Given the description of an element on the screen output the (x, y) to click on. 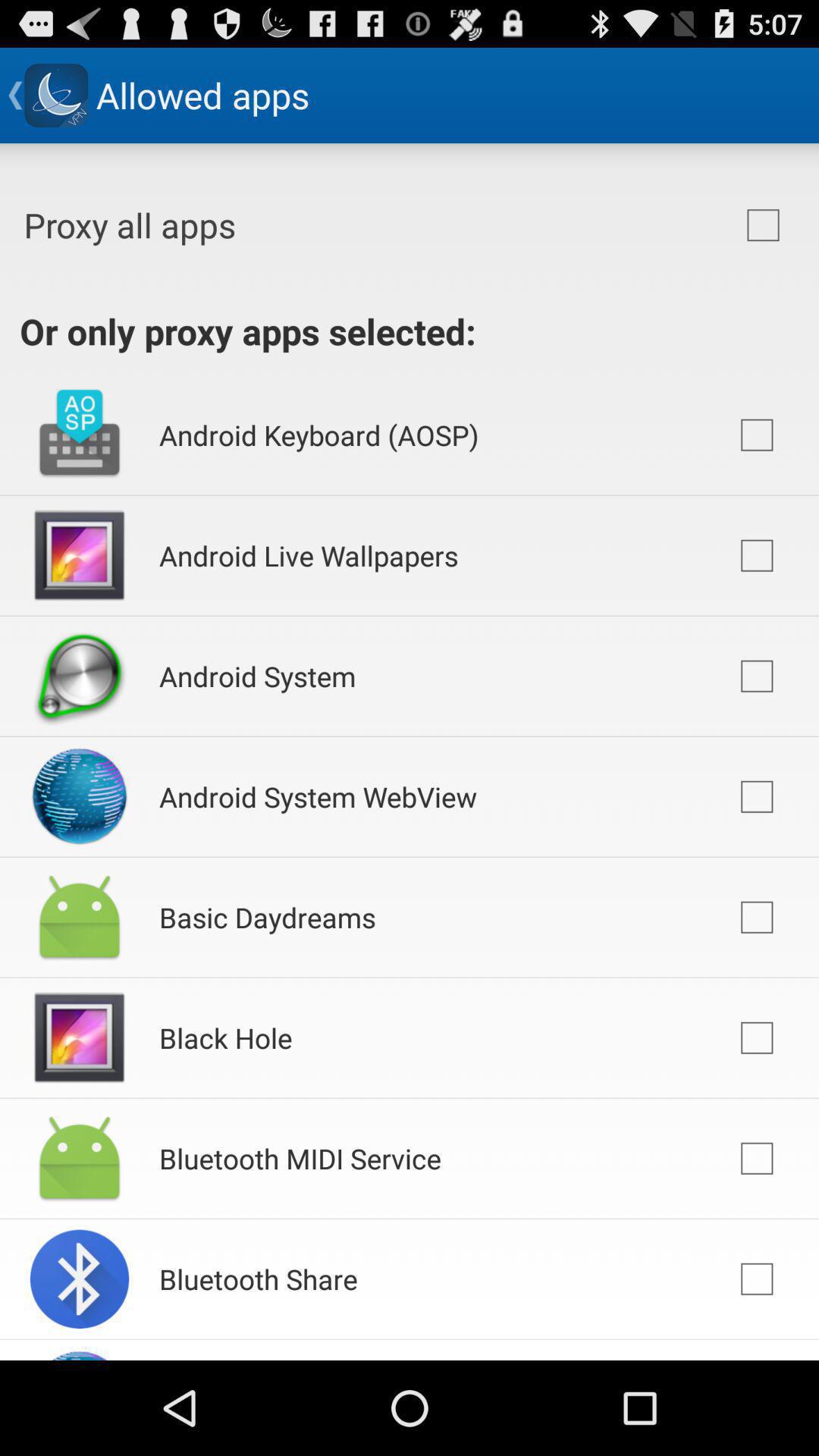
choose icon to the right of the proxy all apps item (763, 225)
